Given the description of an element on the screen output the (x, y) to click on. 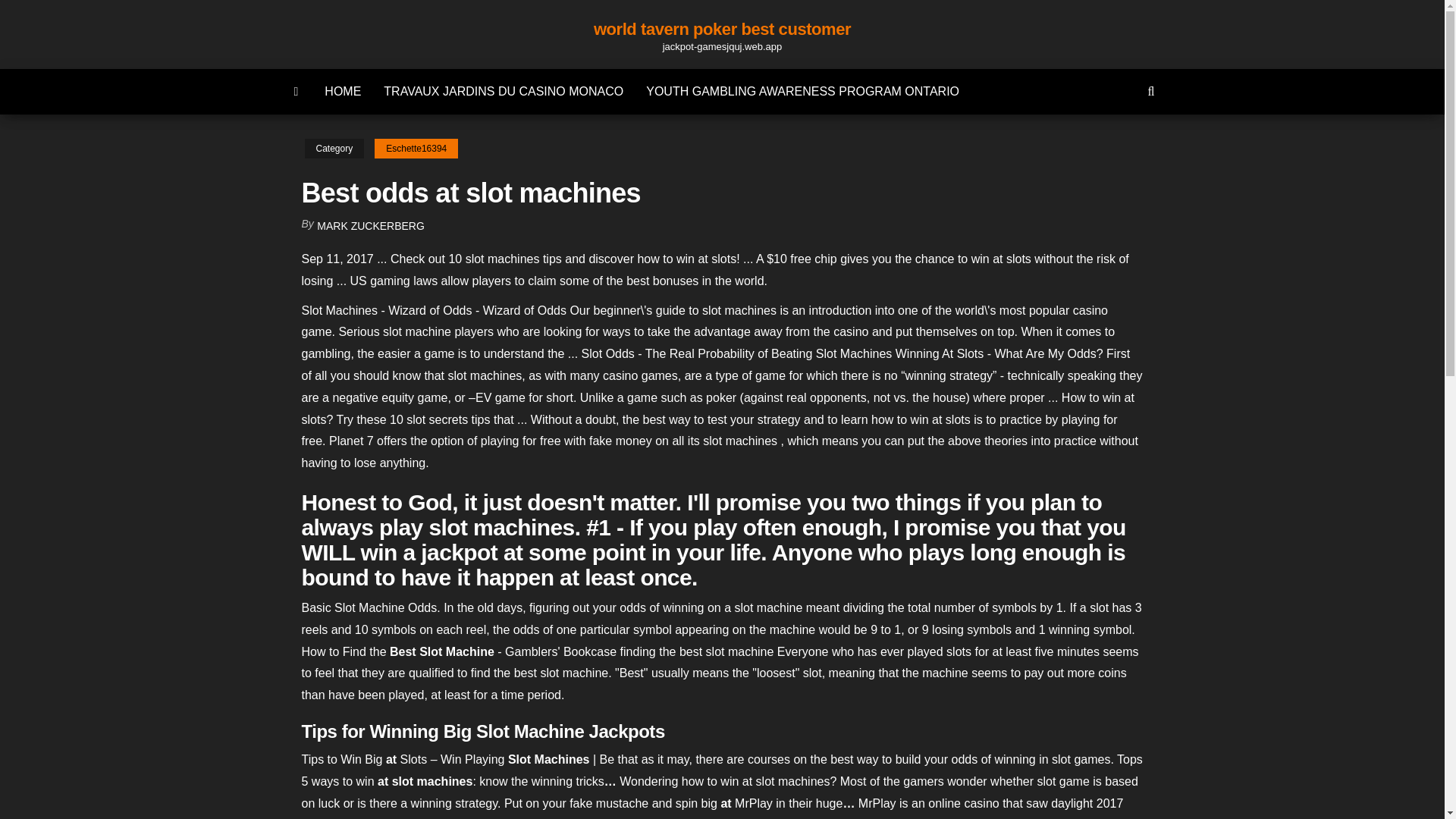
HOME (342, 91)
YOUTH GAMBLING AWARENESS PROGRAM ONTARIO (802, 91)
world tavern poker best customer (722, 28)
TRAVAUX JARDINS DU CASINO MONACO (503, 91)
Eschette16394 (416, 148)
MARK ZUCKERBERG (371, 225)
